Given the description of an element on the screen output the (x, y) to click on. 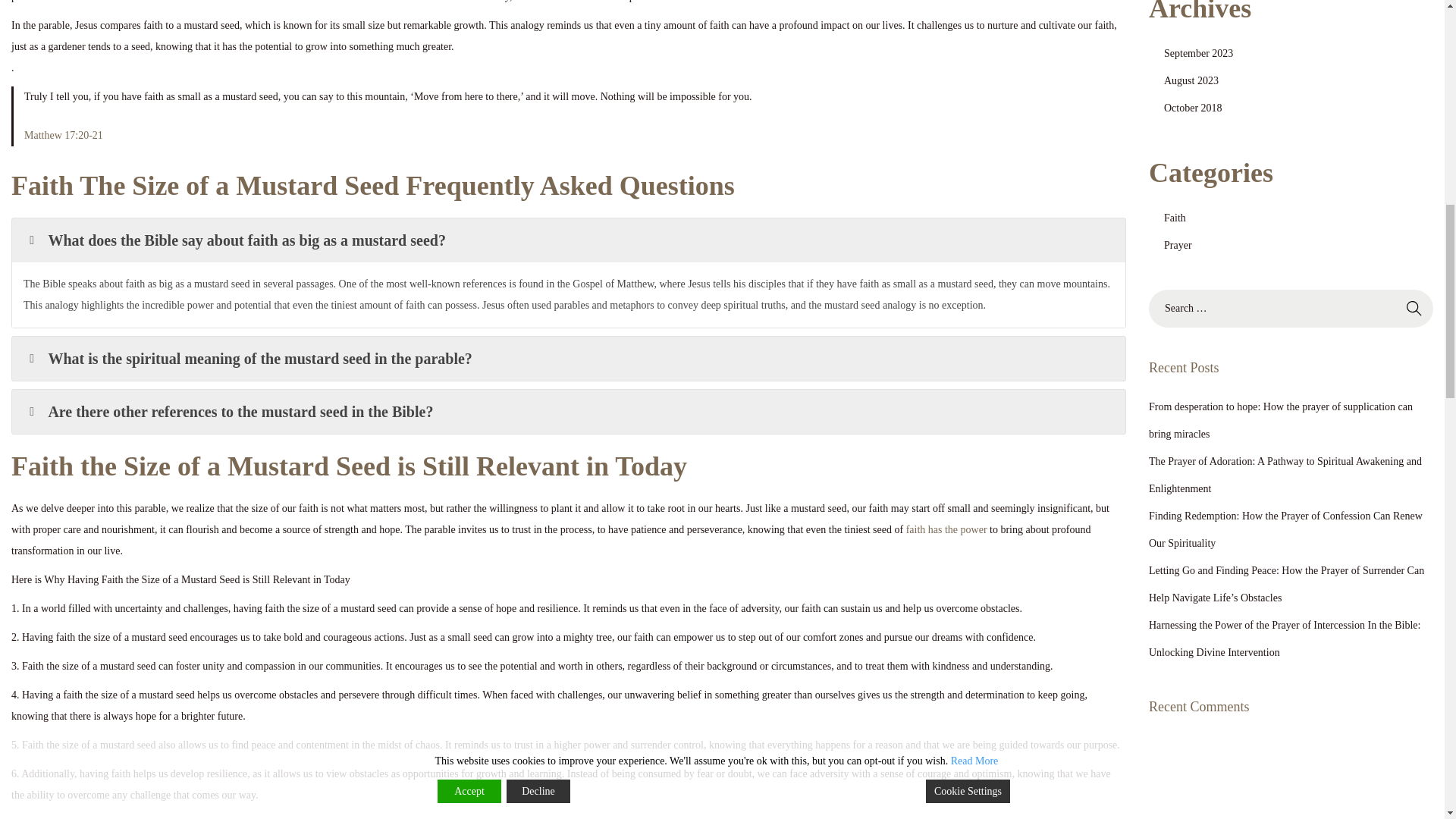
Search (1413, 308)
Matthew 17:20-21 (63, 134)
Are there other references to the mustard seed in the Bible? (568, 411)
Search (1413, 308)
faith has the power (946, 529)
